Given the description of an element on the screen output the (x, y) to click on. 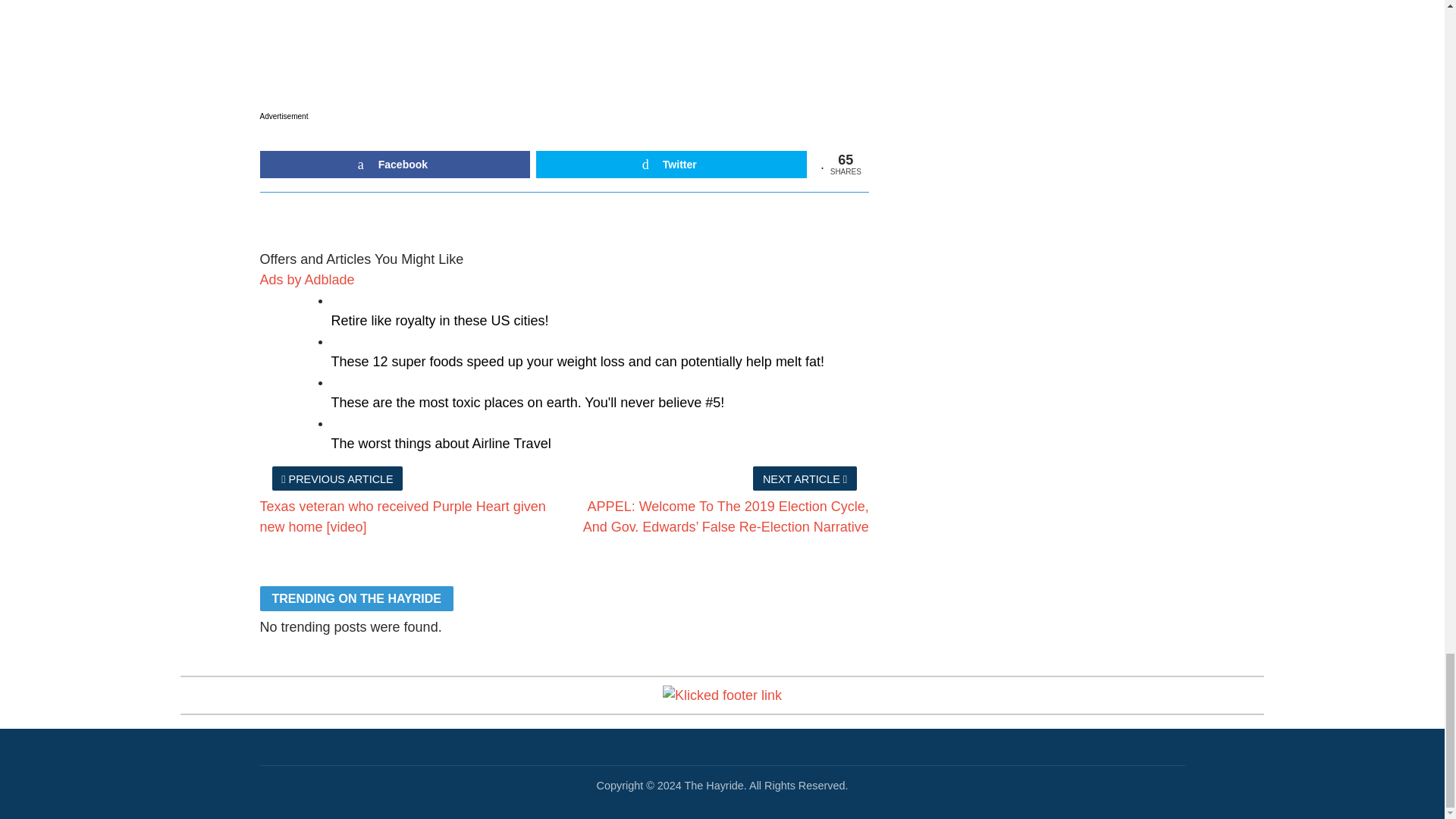
Share on Facebook (394, 164)
Share on Twitter (670, 164)
